Given the description of an element on the screen output the (x, y) to click on. 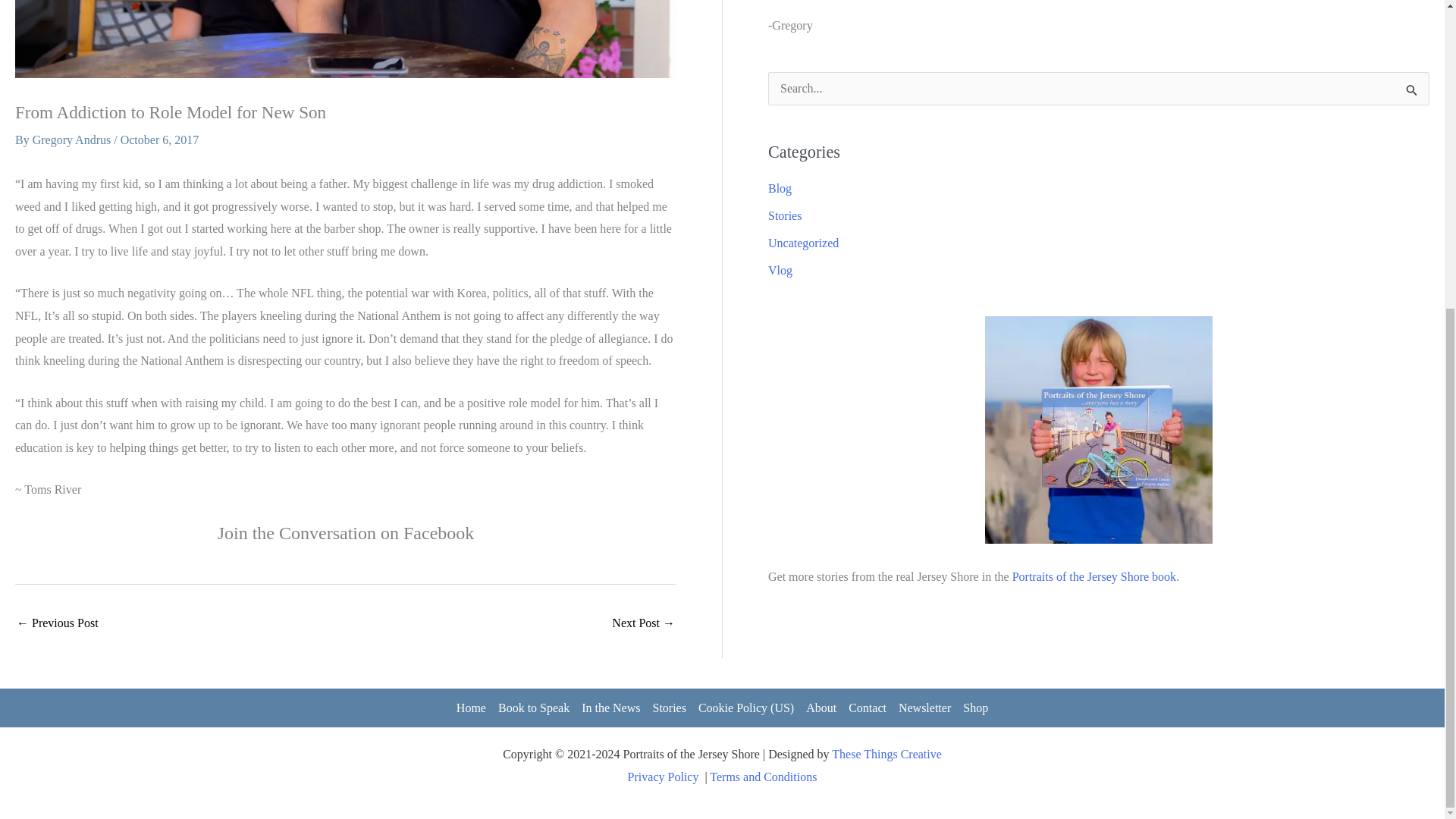
Robert Wood Johnson Cancer Survivor (643, 624)
Author and Advocate for Autism Awareness (57, 624)
View all posts by Gregory Andrus (73, 139)
